Given the description of an element on the screen output the (x, y) to click on. 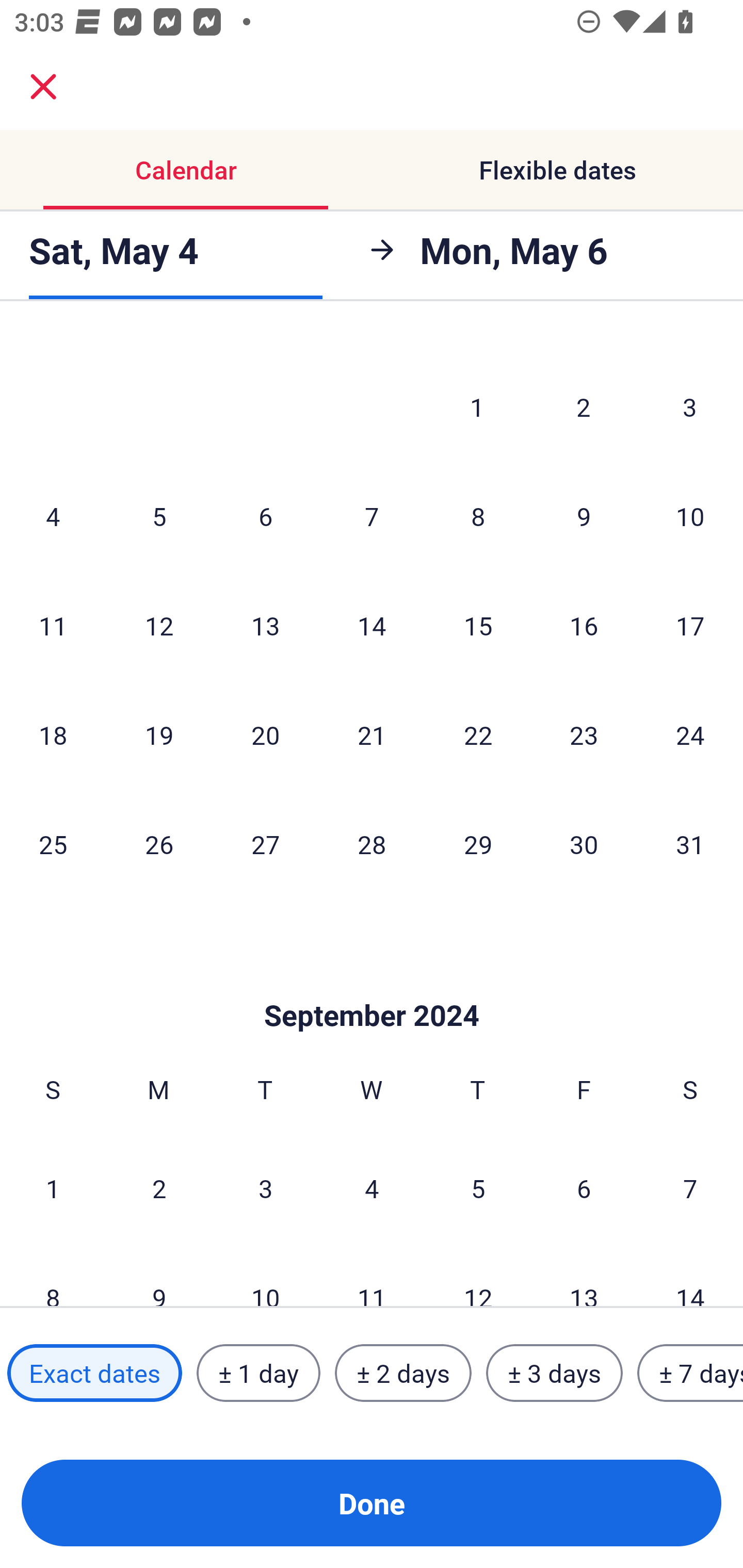
close. (43, 86)
Flexible dates (557, 170)
1 Thursday, August 1, 2024 (477, 406)
2 Friday, August 2, 2024 (583, 406)
3 Saturday, August 3, 2024 (689, 406)
4 Sunday, August 4, 2024 (53, 515)
5 Monday, August 5, 2024 (159, 515)
6 Tuesday, August 6, 2024 (265, 515)
7 Wednesday, August 7, 2024 (371, 515)
8 Thursday, August 8, 2024 (477, 515)
9 Friday, August 9, 2024 (584, 515)
10 Saturday, August 10, 2024 (690, 515)
11 Sunday, August 11, 2024 (53, 625)
12 Monday, August 12, 2024 (159, 625)
13 Tuesday, August 13, 2024 (265, 625)
14 Wednesday, August 14, 2024 (371, 625)
15 Thursday, August 15, 2024 (477, 625)
16 Friday, August 16, 2024 (584, 625)
17 Saturday, August 17, 2024 (690, 625)
18 Sunday, August 18, 2024 (53, 734)
19 Monday, August 19, 2024 (159, 734)
20 Tuesday, August 20, 2024 (265, 734)
21 Wednesday, August 21, 2024 (371, 734)
22 Thursday, August 22, 2024 (477, 734)
23 Friday, August 23, 2024 (584, 734)
24 Saturday, August 24, 2024 (690, 734)
25 Sunday, August 25, 2024 (53, 843)
26 Monday, August 26, 2024 (159, 843)
27 Tuesday, August 27, 2024 (265, 843)
28 Wednesday, August 28, 2024 (371, 843)
29 Thursday, August 29, 2024 (477, 843)
30 Friday, August 30, 2024 (584, 843)
31 Saturday, August 31, 2024 (690, 843)
Skip to Done (371, 984)
1 Sunday, September 1, 2024 (53, 1187)
2 Monday, September 2, 2024 (159, 1187)
3 Tuesday, September 3, 2024 (265, 1187)
4 Wednesday, September 4, 2024 (371, 1187)
5 Thursday, September 5, 2024 (477, 1187)
6 Friday, September 6, 2024 (584, 1187)
7 Saturday, September 7, 2024 (690, 1187)
8 Sunday, September 8, 2024 (53, 1275)
9 Monday, September 9, 2024 (159, 1275)
10 Tuesday, September 10, 2024 (265, 1275)
11 Wednesday, September 11, 2024 (371, 1275)
12 Thursday, September 12, 2024 (477, 1275)
13 Friday, September 13, 2024 (584, 1275)
14 Saturday, September 14, 2024 (690, 1275)
Exact dates (94, 1372)
± 1 day (258, 1372)
± 2 days (403, 1372)
± 3 days (553, 1372)
± 7 days (690, 1372)
Done (371, 1502)
